Given the description of an element on the screen output the (x, y) to click on. 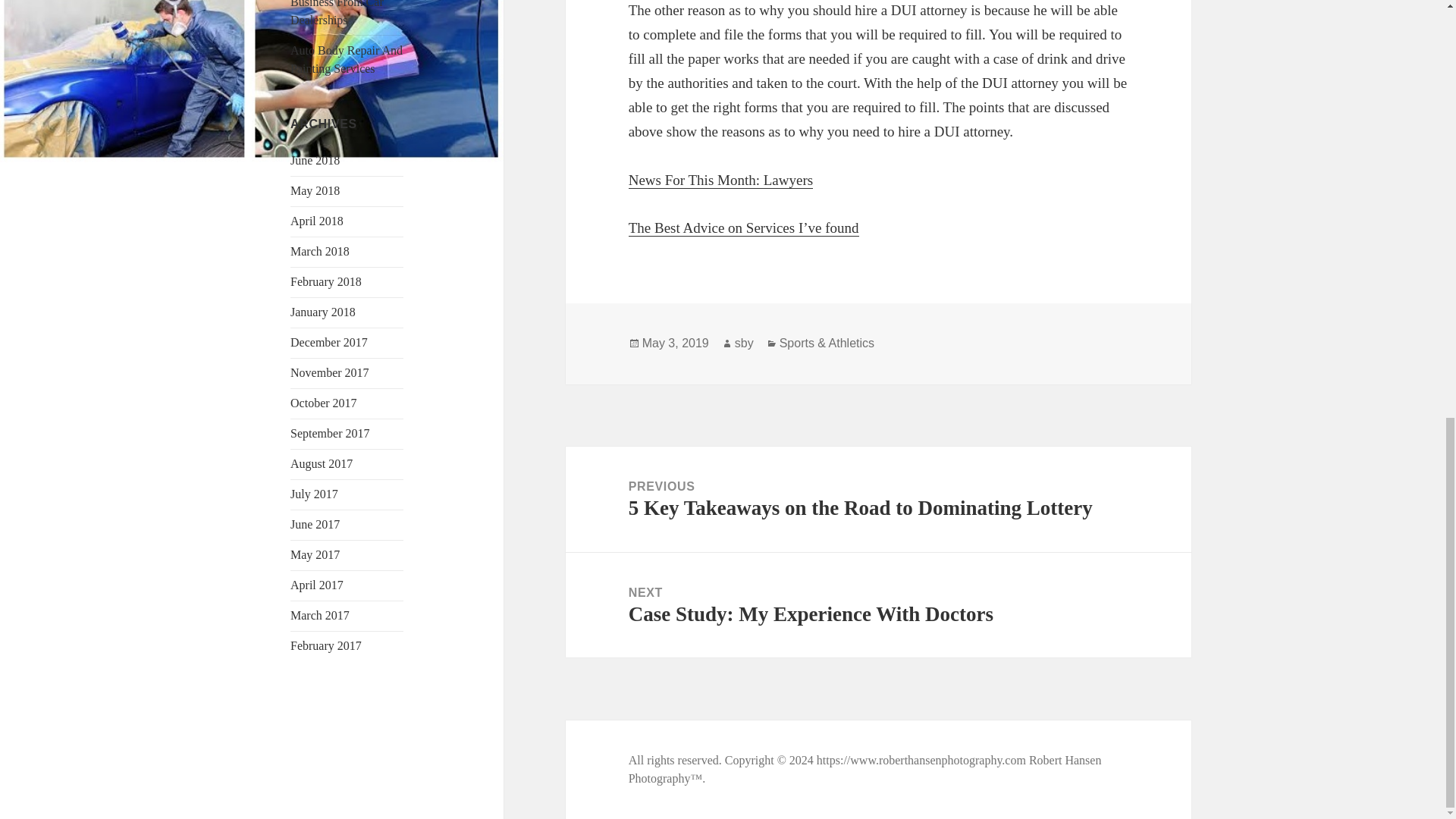
February 2018 (325, 281)
October 2017 (322, 402)
March 2018 (319, 250)
Robert Hansen Photography (865, 769)
June 2017 (314, 523)
July 2017 (313, 493)
News For This Month: Lawyers (720, 180)
June 2018 (314, 160)
Auto Body Repair And Painting Services (878, 605)
November 2017 (346, 59)
April 2017 (329, 372)
September 2017 (316, 584)
April 2018 (329, 432)
